Given the description of an element on the screen output the (x, y) to click on. 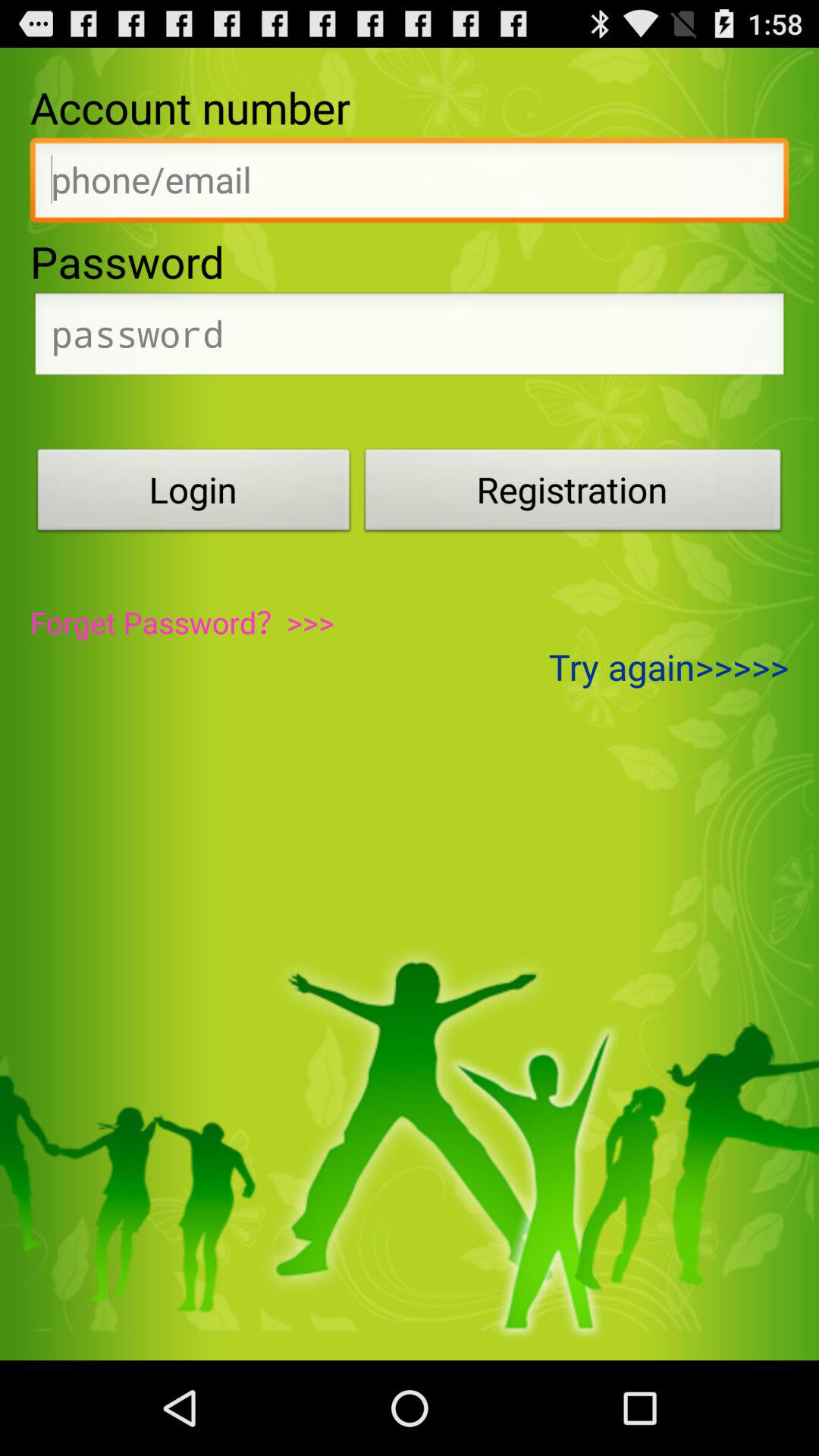
choose the item below the login item (182, 622)
